Given the description of an element on the screen output the (x, y) to click on. 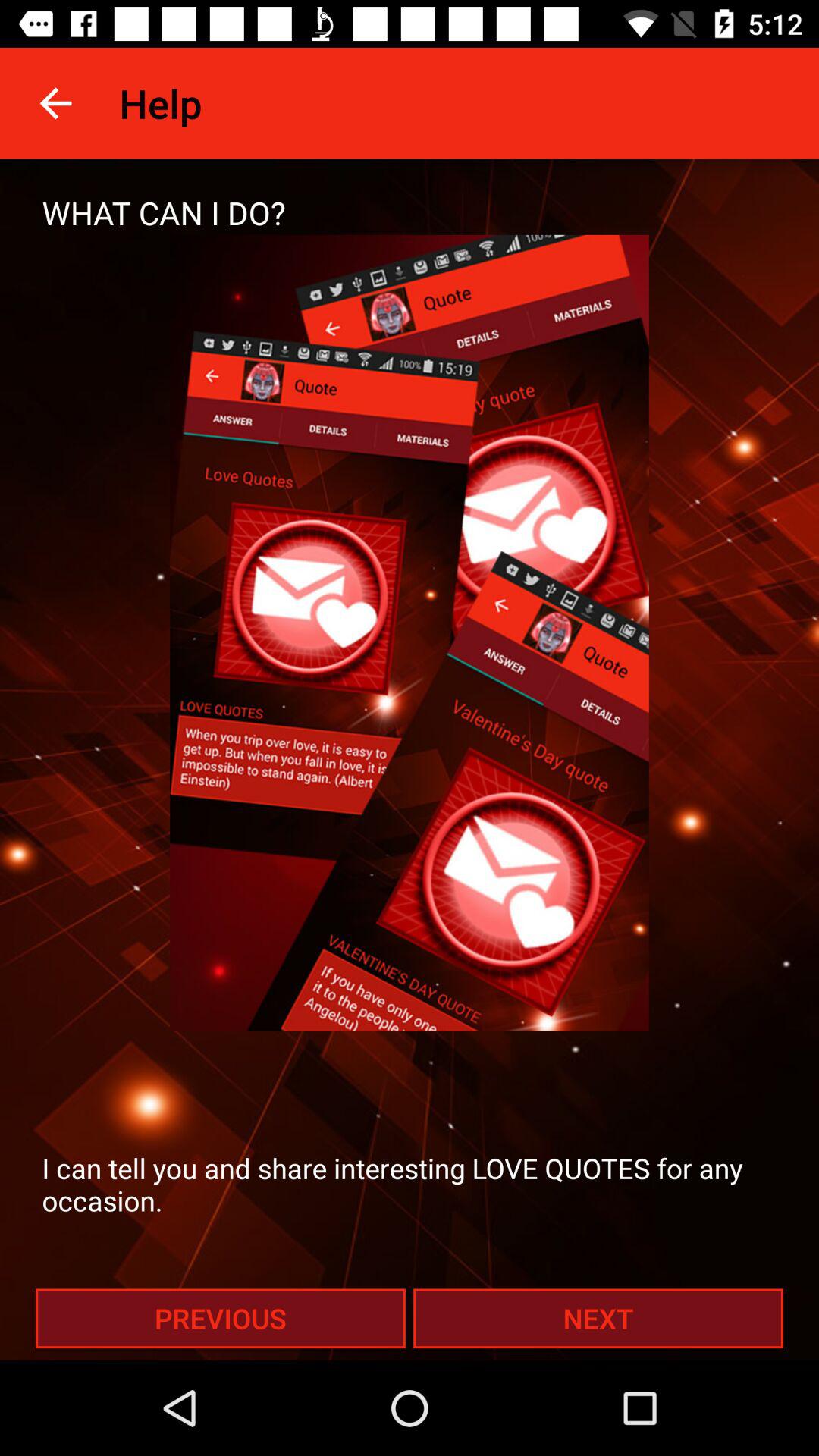
choose the item to the right of previous item (598, 1318)
